Given the description of an element on the screen output the (x, y) to click on. 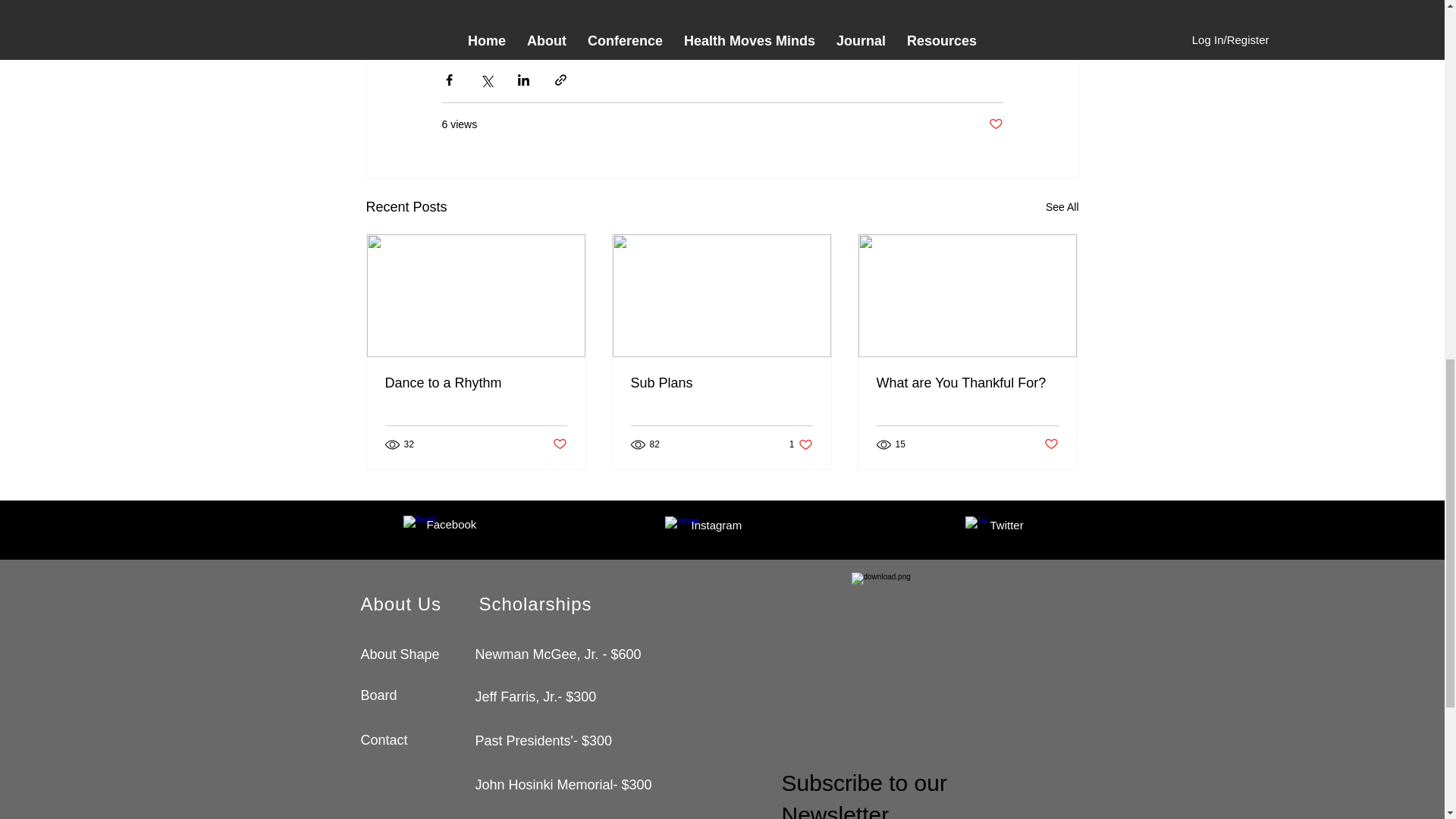
Post not marked as liked (995, 124)
Sub Plans (721, 383)
See All (1061, 207)
Post not marked as liked (558, 444)
Dance to a Rhythm (476, 383)
